Given the description of an element on the screen output the (x, y) to click on. 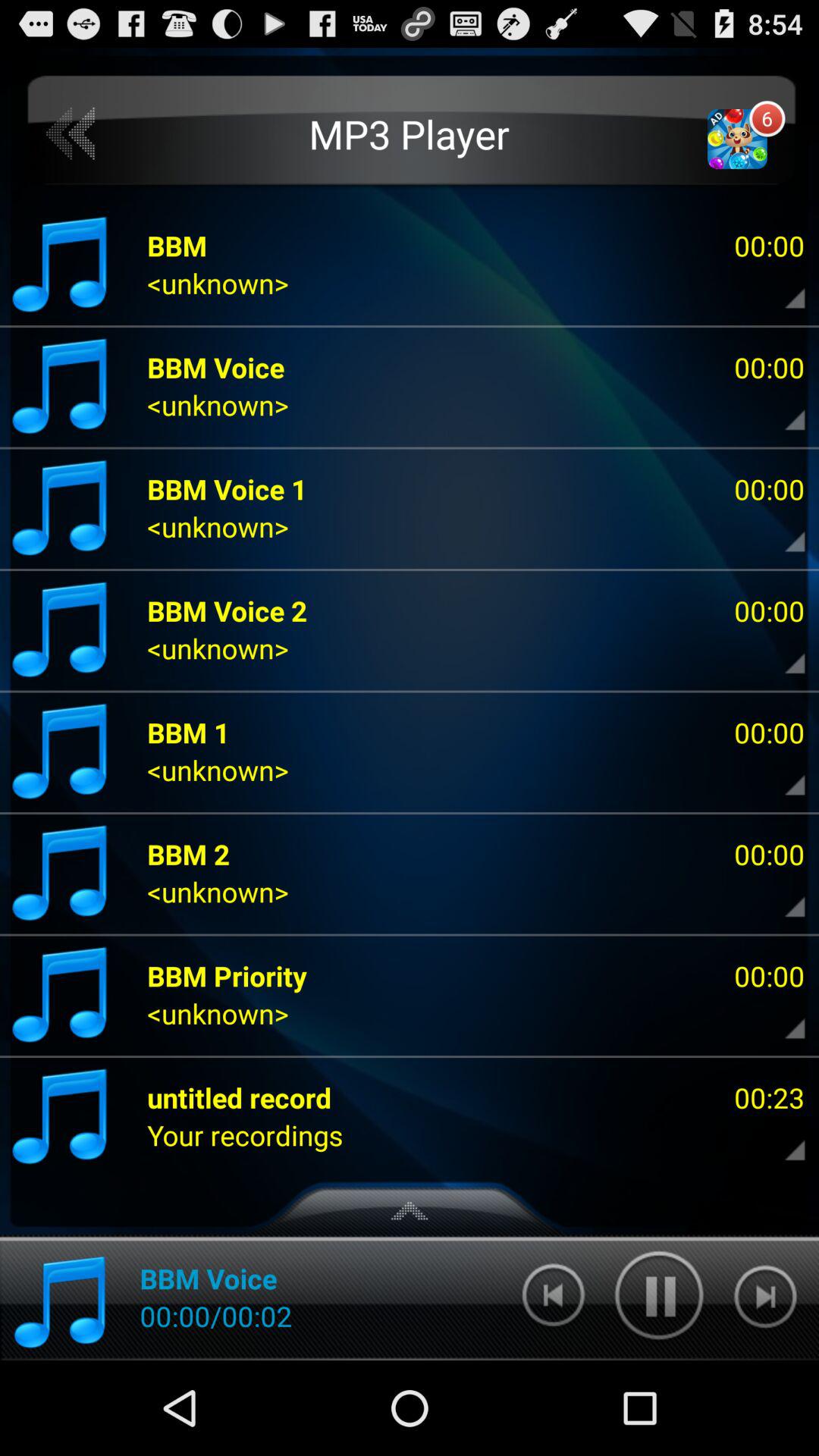
go to previous (71, 133)
